Given the description of an element on the screen output the (x, y) to click on. 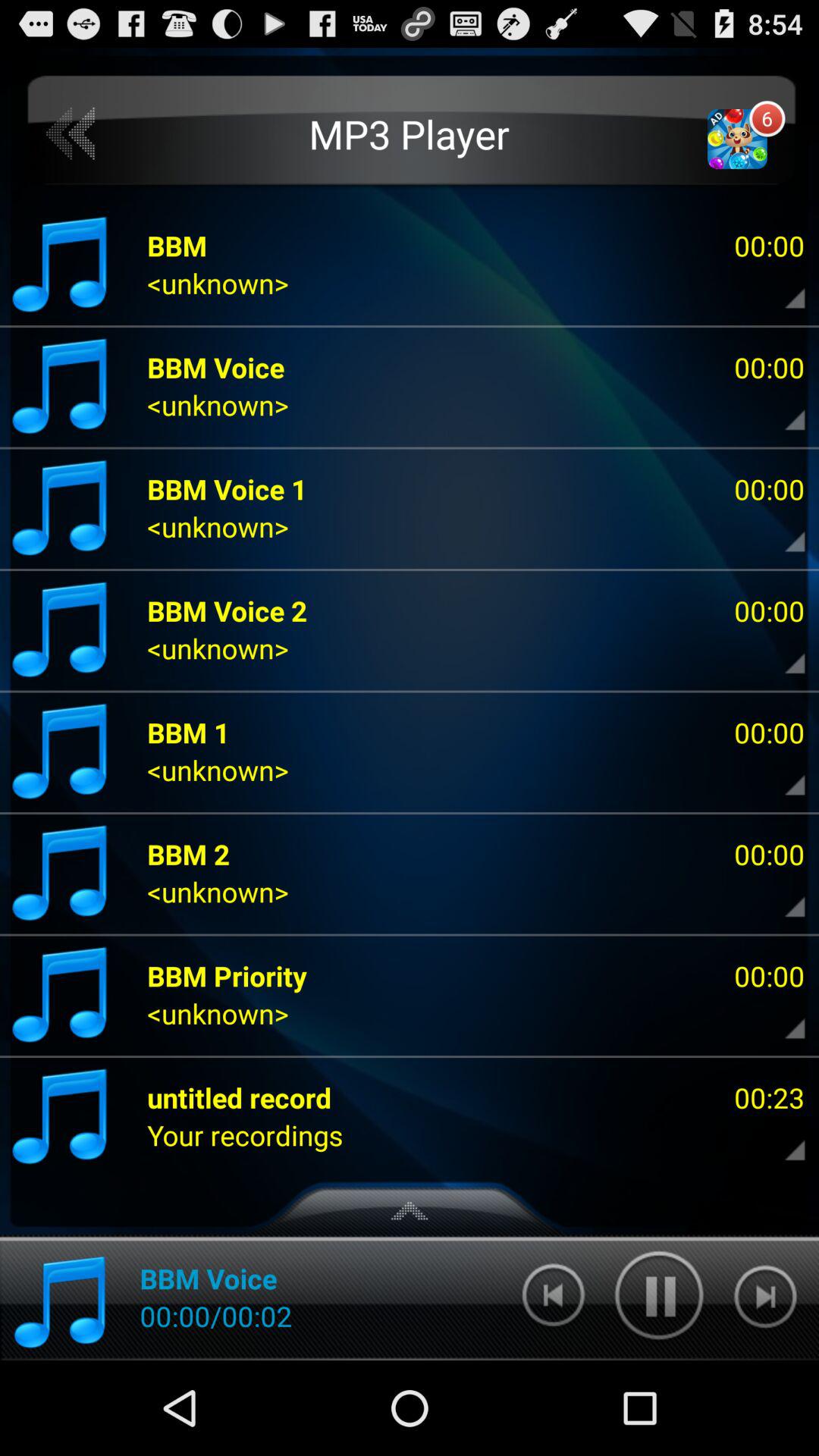
go to previous (71, 133)
